Given the description of an element on the screen output the (x, y) to click on. 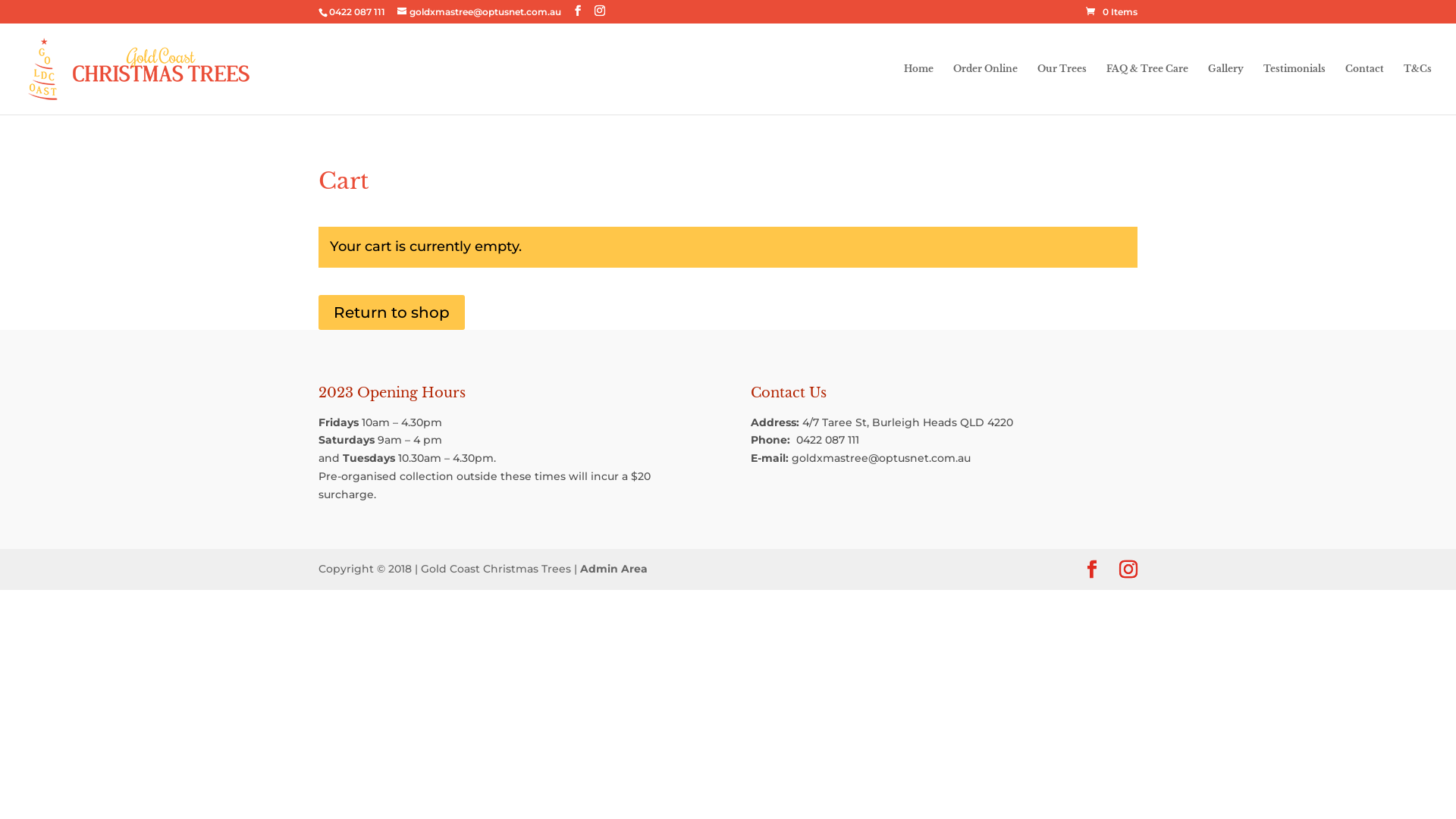
FAQ & Tree Care Element type: text (1147, 88)
Our Trees Element type: text (1061, 88)
Order Online Element type: text (985, 88)
Gallery Element type: text (1225, 88)
Testimonials Element type: text (1294, 88)
Admin Area Element type: text (613, 568)
Contact Element type: text (1364, 88)
goldxmastree@optusnet.com.au Element type: text (880, 457)
Return to shop Element type: text (391, 311)
goldxmastree@optusnet.com.au Element type: text (479, 11)
Home Element type: text (918, 88)
T&Cs Element type: text (1417, 88)
0 Items Element type: text (1111, 11)
